Given the description of an element on the screen output the (x, y) to click on. 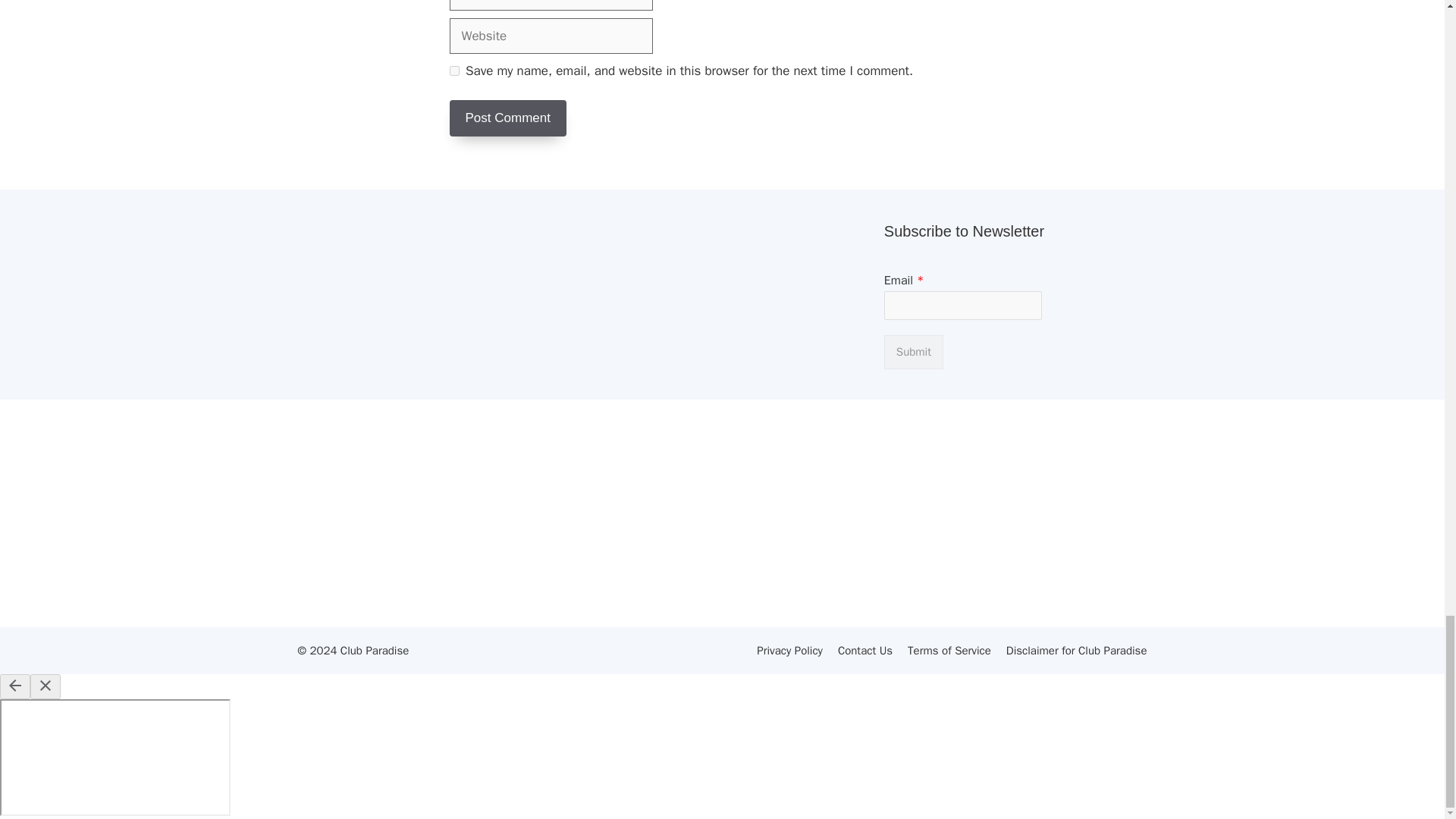
Post Comment (507, 117)
Disclaimer for Club Paradise (1076, 650)
Post Comment (507, 117)
yes (453, 71)
Terms of Service (949, 650)
Privacy Policy (789, 650)
Contact Us (865, 650)
Submit (913, 351)
